Given the description of an element on the screen output the (x, y) to click on. 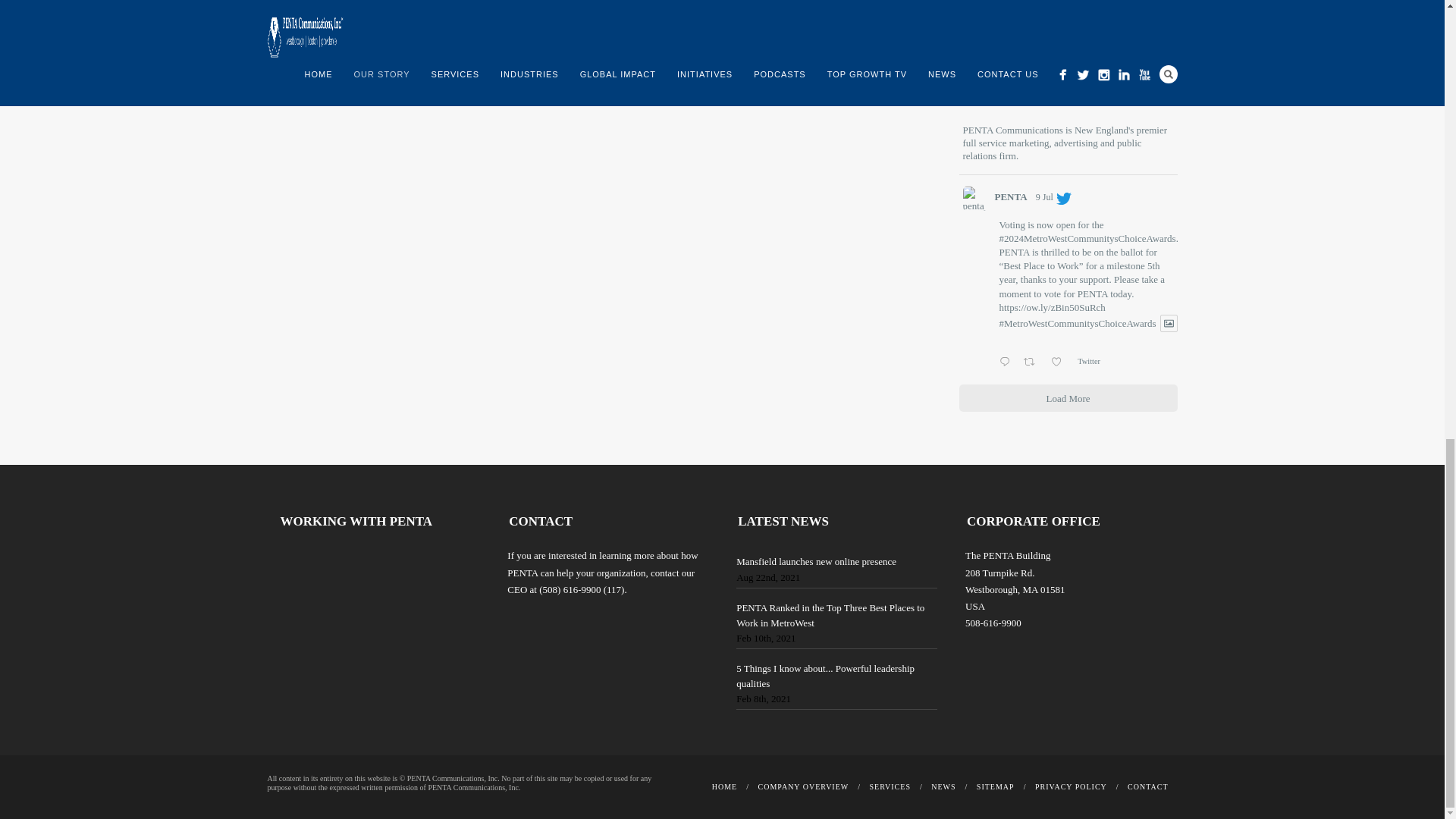
YouTube video player (392, 603)
